Given the description of an element on the screen output the (x, y) to click on. 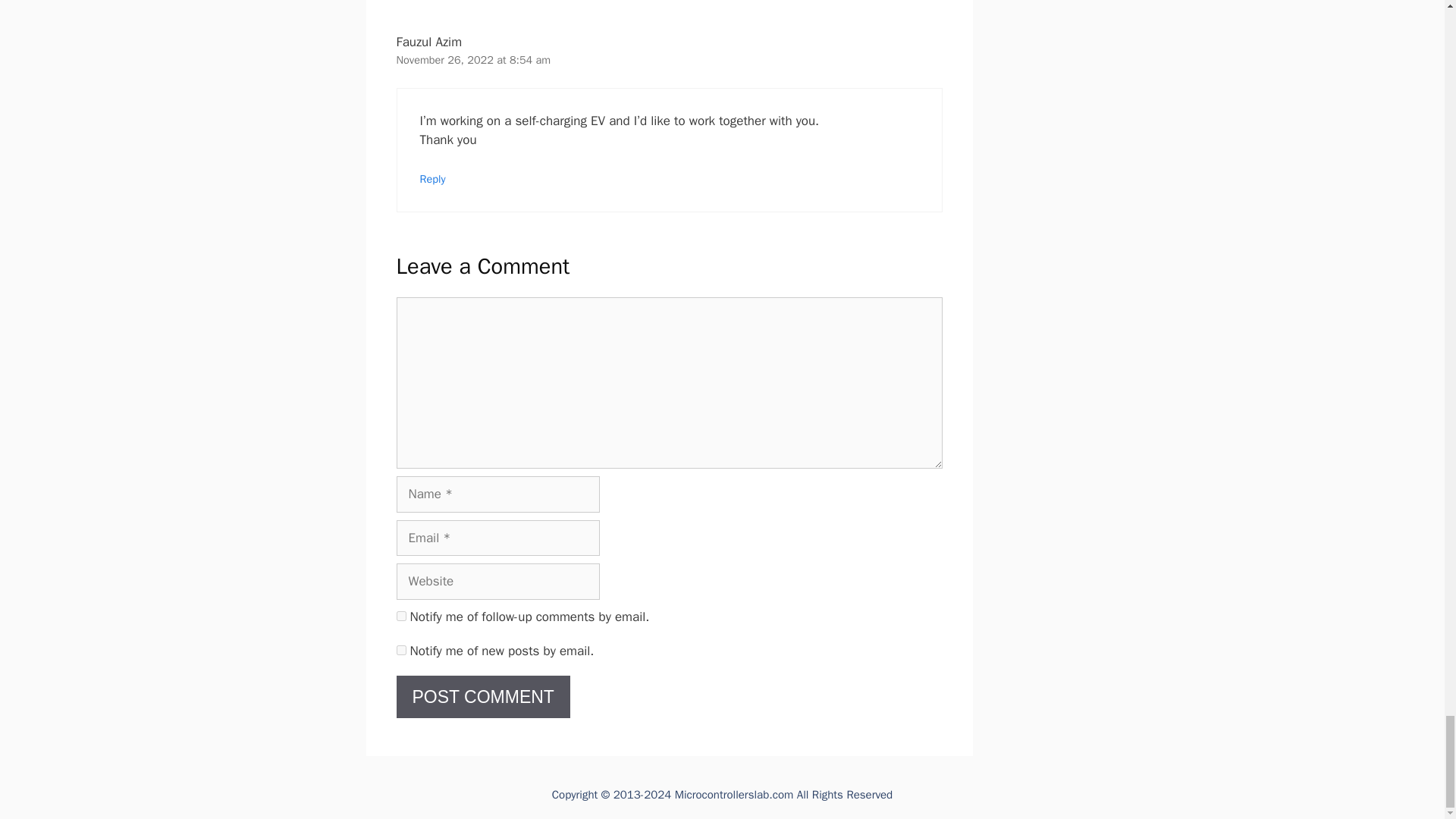
subscribe (401, 650)
Post Comment (482, 697)
subscribe (401, 615)
